Given the description of an element on the screen output the (x, y) to click on. 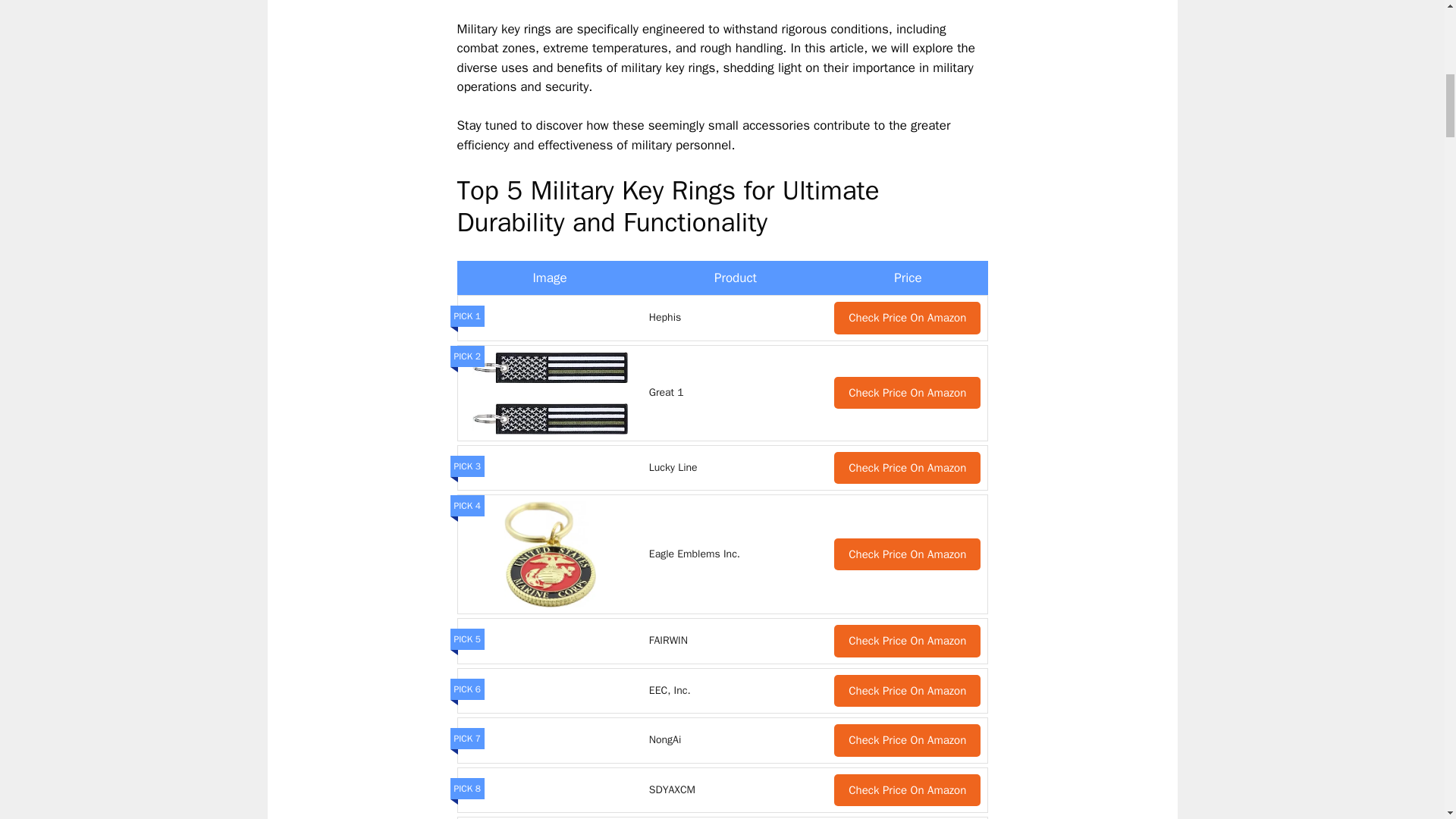
Check Price On Amazon (906, 789)
Check Price On Amazon (906, 392)
Check Price On Amazon (906, 690)
SDYAXCM (735, 789)
Eagle Emblems Inc. (735, 554)
Check Price On Amazon (906, 640)
Check Price On Amazon (906, 468)
NongAi (735, 739)
Check Price On Amazon (906, 739)
Great 1 (735, 392)
